Given the description of an element on the screen output the (x, y) to click on. 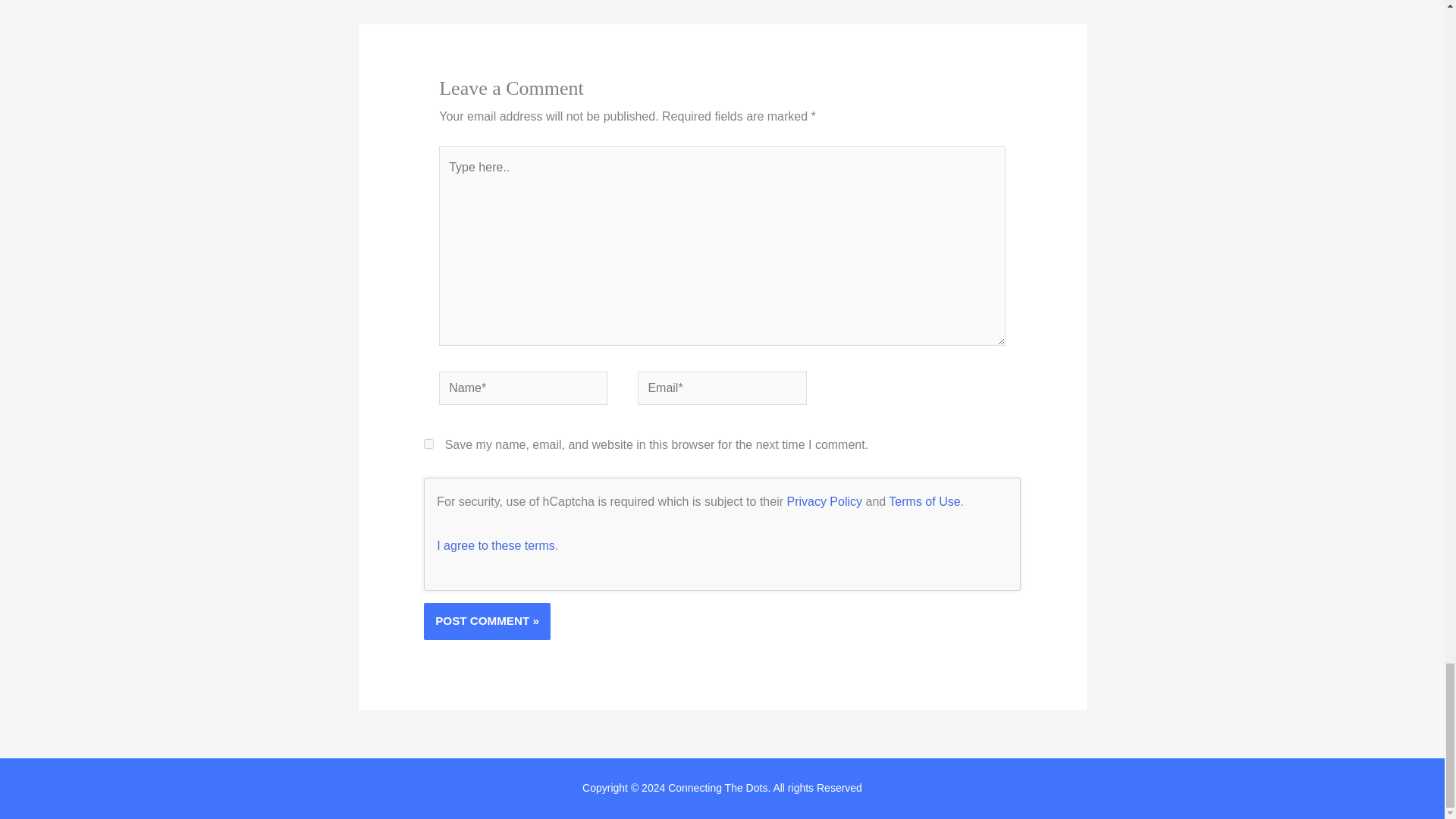
Terms of Use (923, 501)
yes (428, 443)
Privacy Policy (823, 501)
I agree to these terms (495, 545)
